Given the description of an element on the screen output the (x, y) to click on. 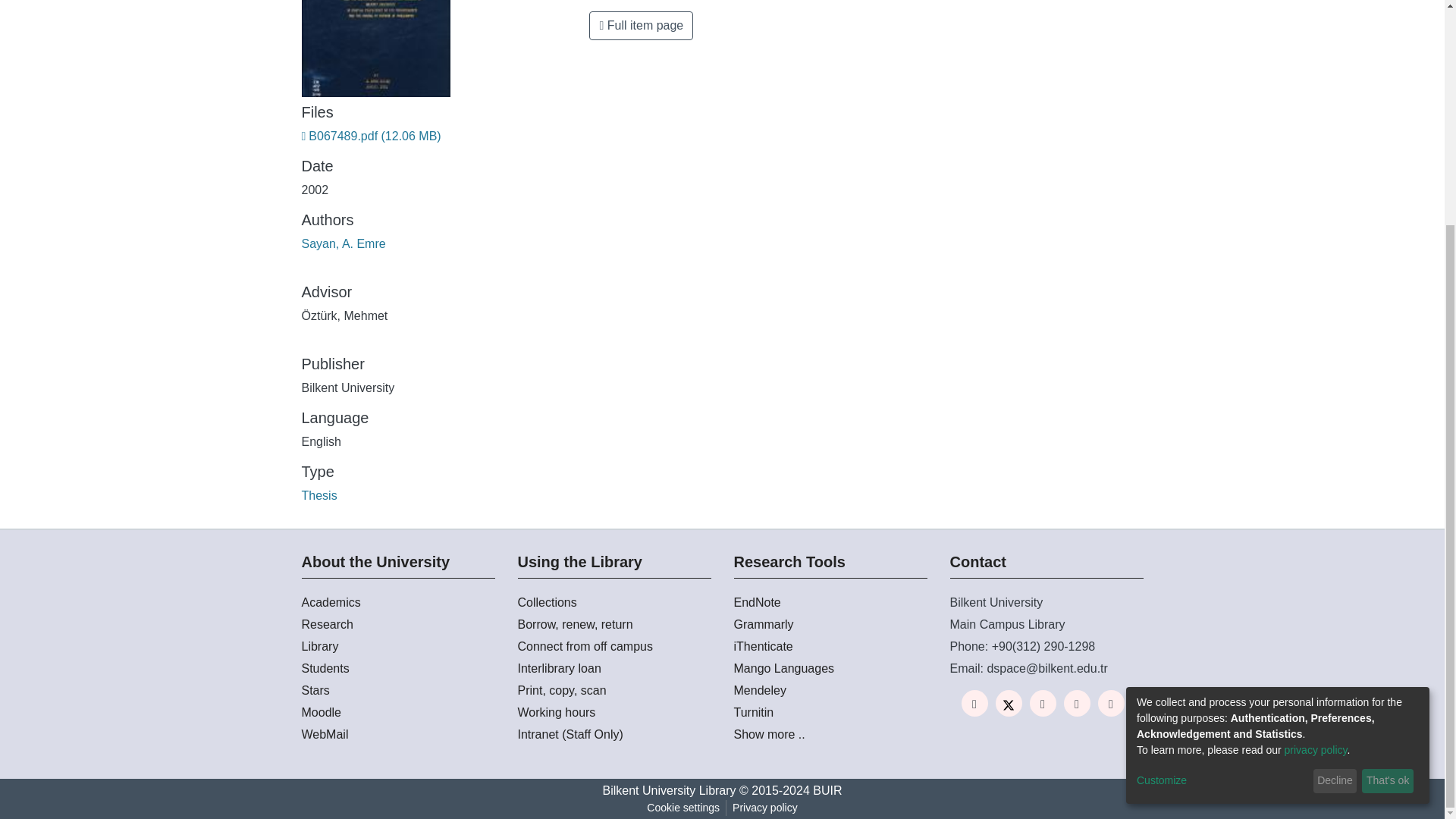
Library (398, 647)
Students (398, 669)
Connect from off campus (613, 647)
Working hours (613, 712)
Sayan, A. Emre (343, 243)
Borrow, renew, return (613, 624)
Interlibrary loan (613, 669)
Collections (613, 602)
Academics (398, 602)
Research (398, 624)
Thesis (319, 495)
WebMail (398, 734)
Full item page (641, 25)
Stars (398, 690)
Moodle (398, 712)
